Given the description of an element on the screen output the (x, y) to click on. 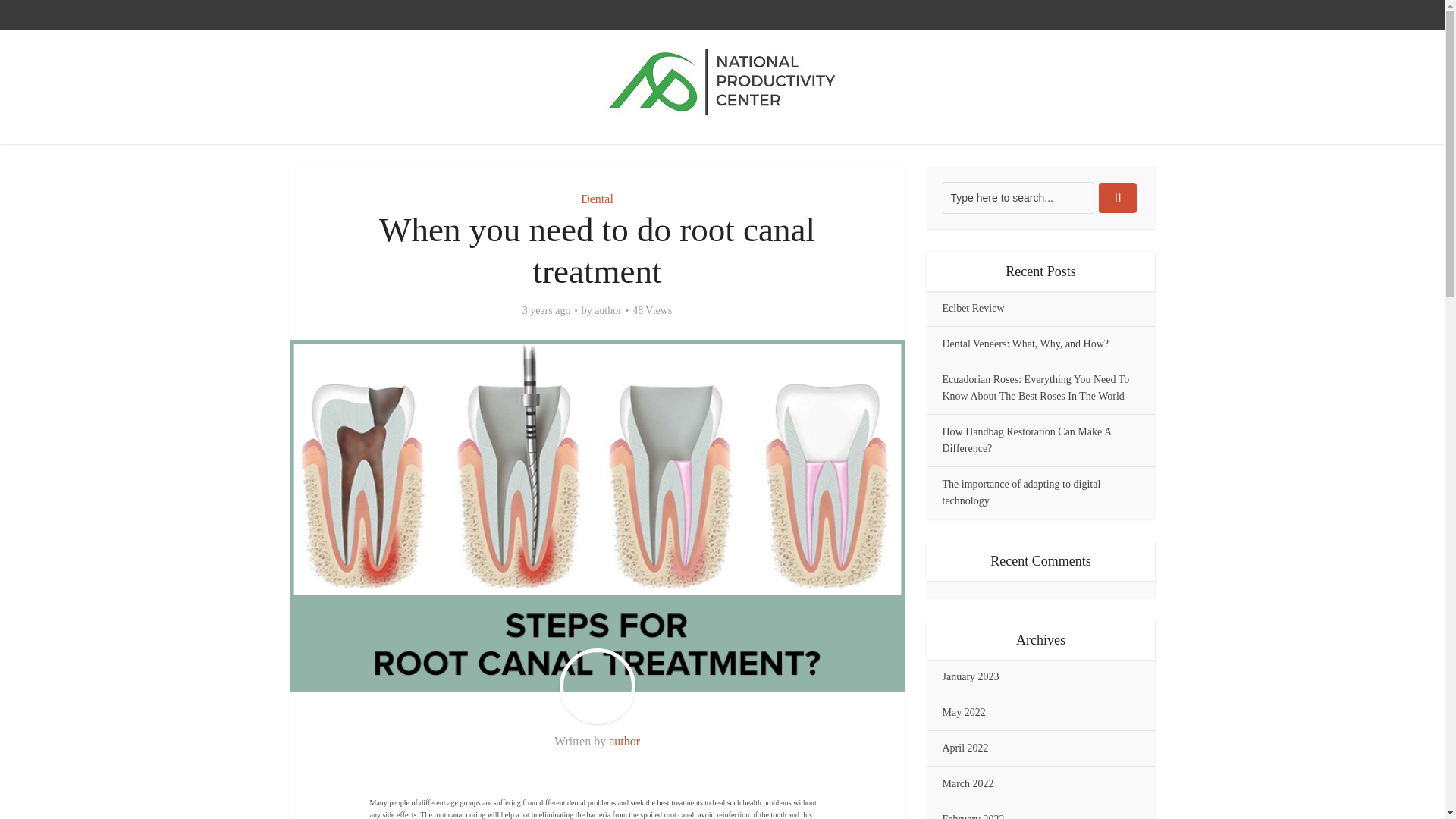
March 2022 (967, 783)
February 2022 (973, 816)
Dental Veneers: What, Why, and How? (1025, 343)
The importance of adapting to digital technology (1021, 492)
How Handbag Restoration Can Make A Difference? (1026, 439)
author (624, 740)
Eclbet Review (973, 307)
Type here to search... (1017, 197)
author (607, 310)
